Given the description of an element on the screen output the (x, y) to click on. 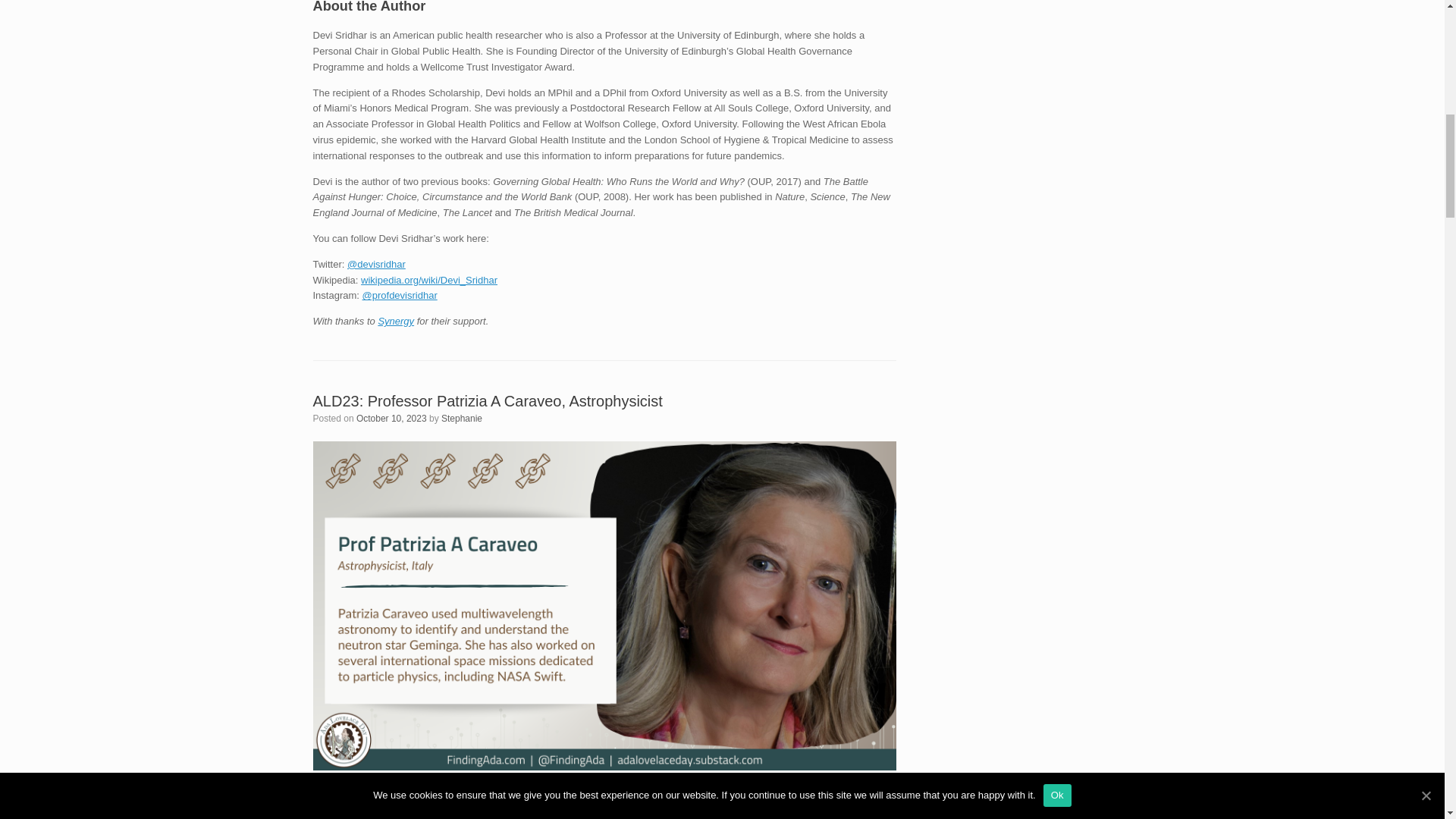
8:30 pm (391, 418)
View all posts by Stephanie (461, 418)
